Given the description of an element on the screen output the (x, y) to click on. 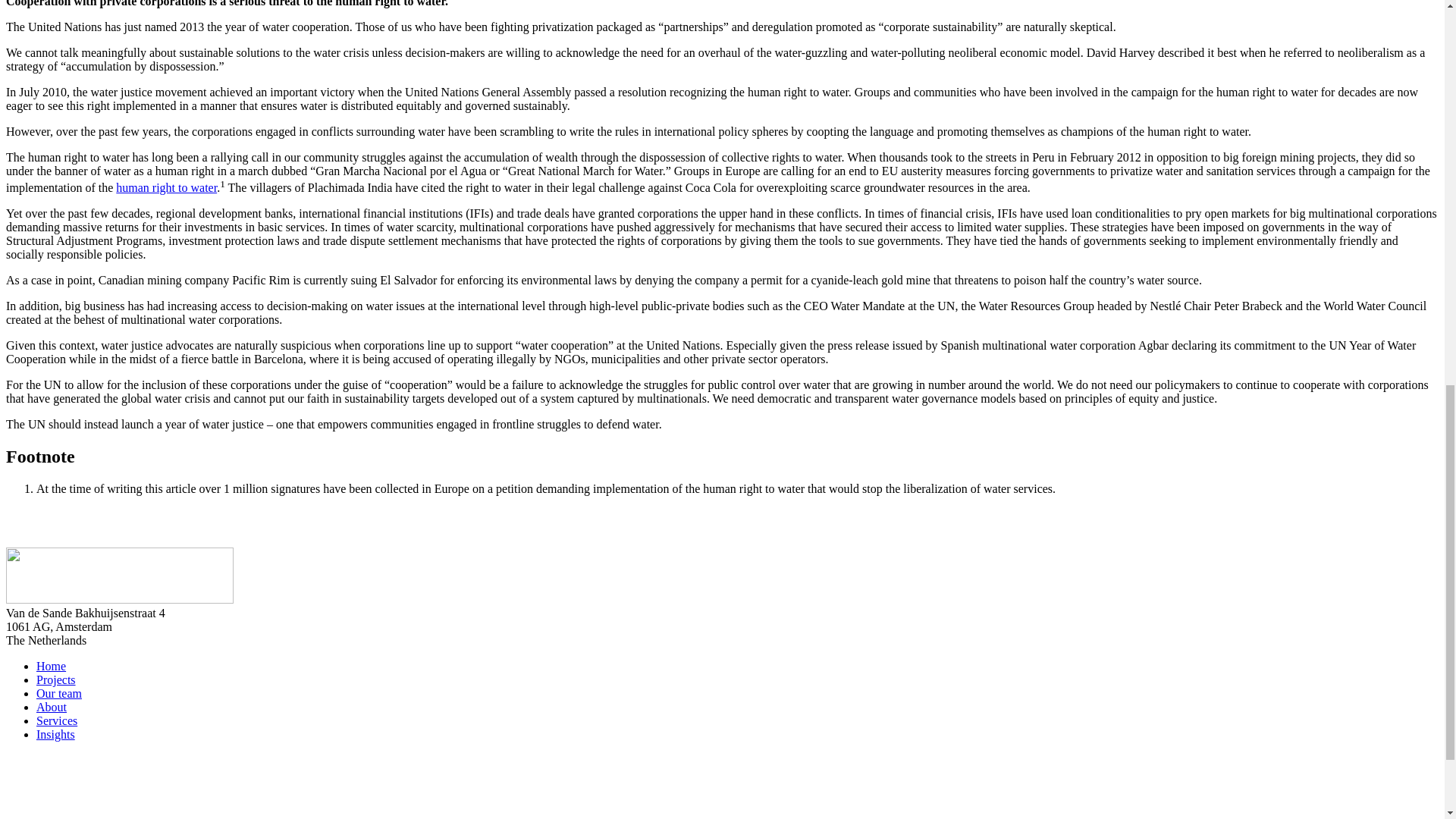
human right to water (166, 187)
About (51, 707)
Our team (58, 693)
Projects (55, 679)
Home (50, 666)
Services (56, 720)
Insights (55, 734)
